Given the description of an element on the screen output the (x, y) to click on. 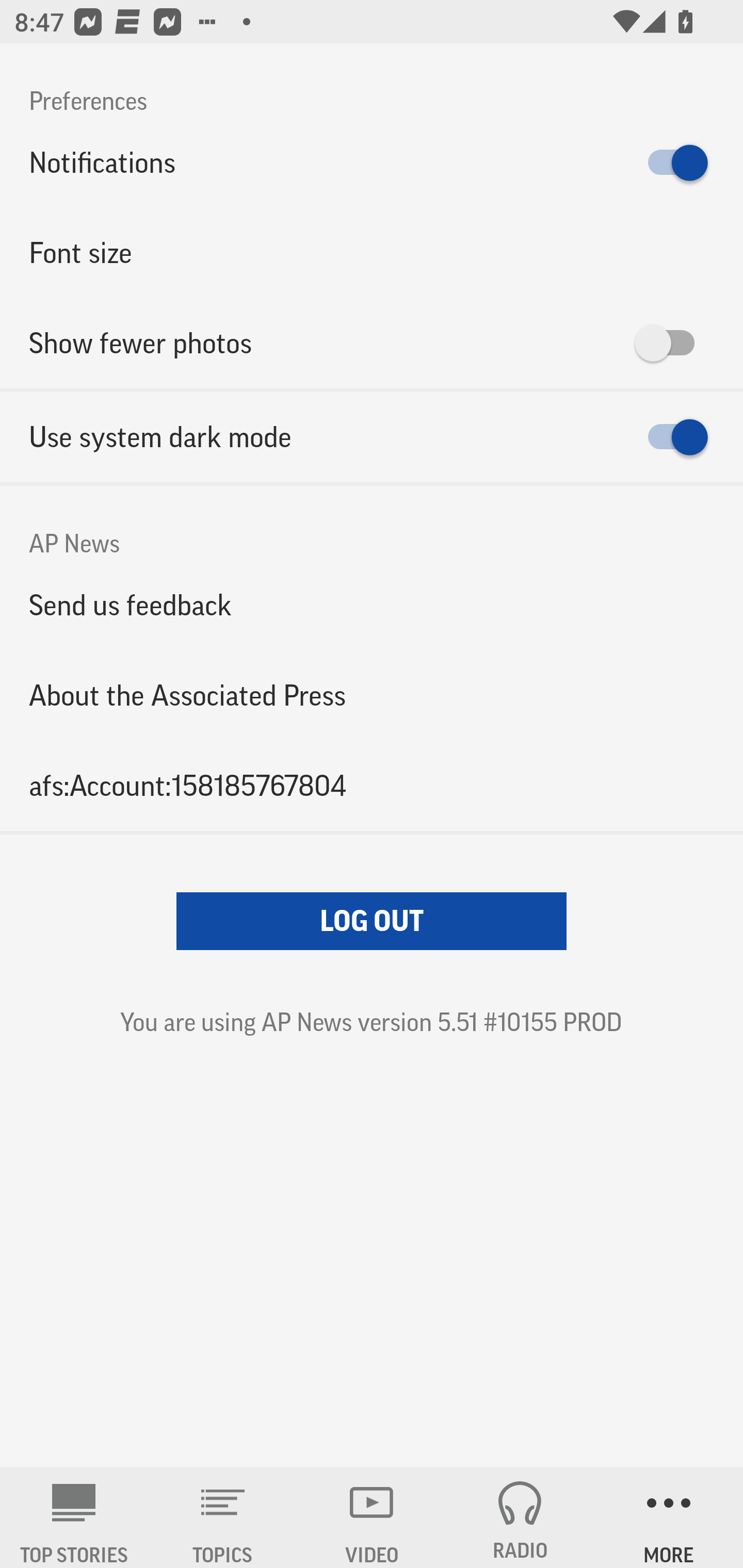
Notifications (371, 162)
Font size (371, 252)
Show fewer photos (371, 342)
Use system dark mode (371, 437)
Send us feedback (371, 604)
About the Associated Press (371, 695)
afs:Account:158185767804 (371, 785)
LOG OUT (371, 921)
AP News TOP STORIES (74, 1517)
TOPICS (222, 1517)
VIDEO (371, 1517)
RADIO (519, 1517)
MORE (668, 1517)
